Given the description of an element on the screen output the (x, y) to click on. 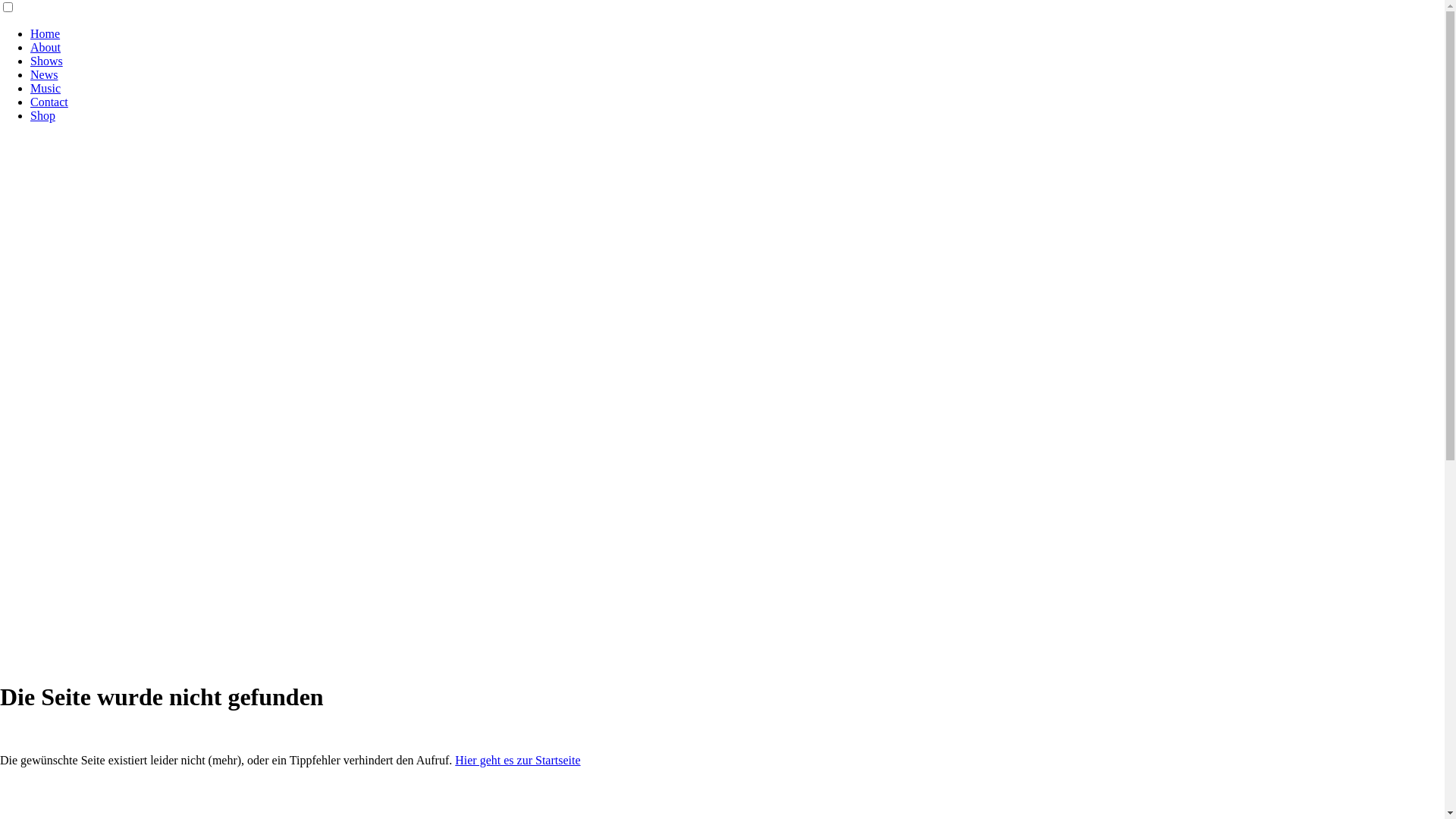
Music Element type: text (45, 87)
Home Element type: text (44, 33)
Shop Element type: text (42, 115)
Hier geht es zur Startseite Element type: text (517, 759)
About Element type: text (45, 46)
Contact Element type: text (49, 101)
Shows Element type: text (46, 60)
News Element type: text (43, 74)
